Given the description of an element on the screen output the (x, y) to click on. 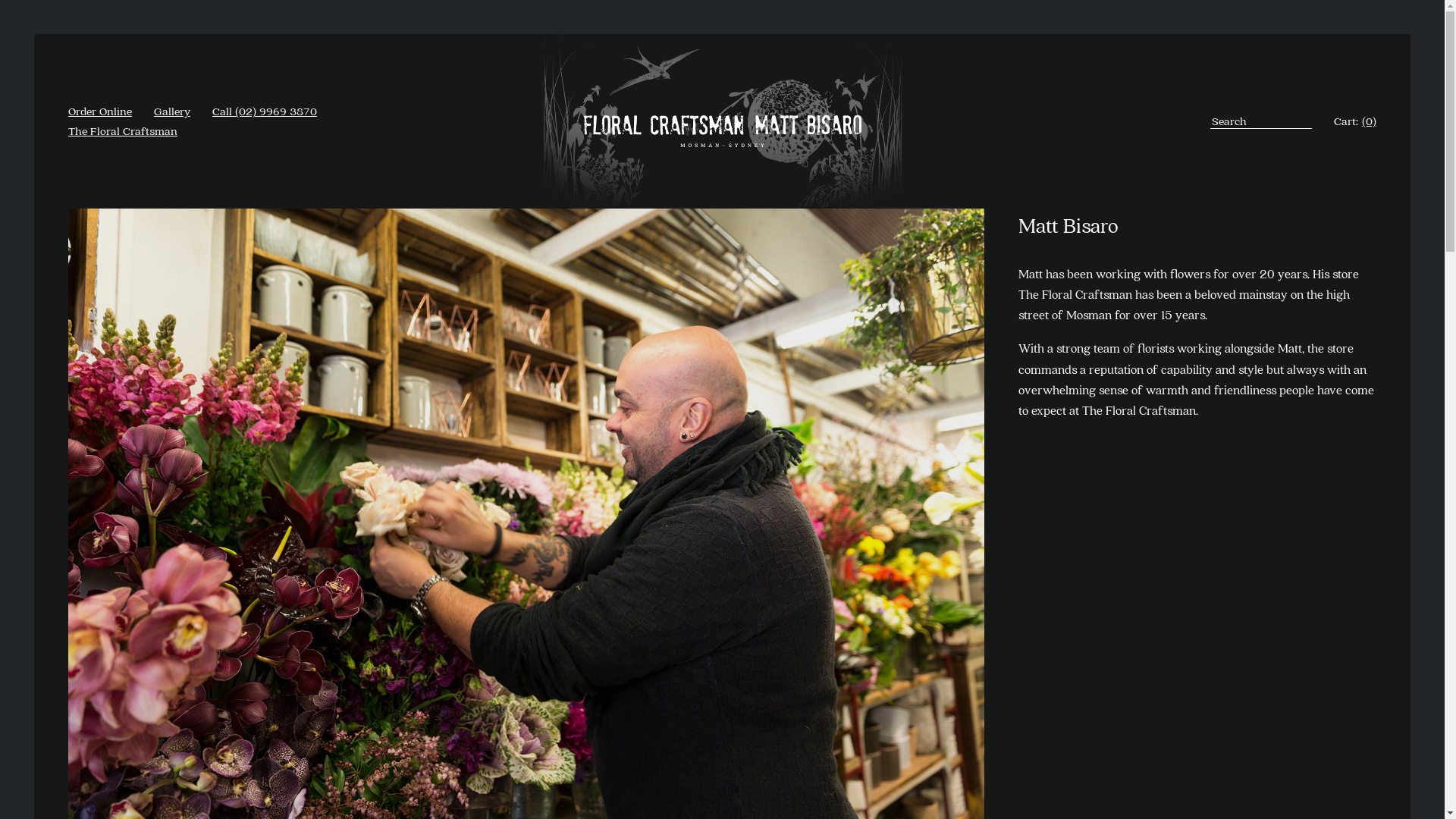
Call (02) 9969 3870 Element type: text (264, 110)
Gallery Element type: text (171, 110)
(0) Element type: text (1368, 120)
The Floral Craftsman Element type: text (122, 130)
Order Online Element type: text (99, 110)
